Given the description of an element on the screen output the (x, y) to click on. 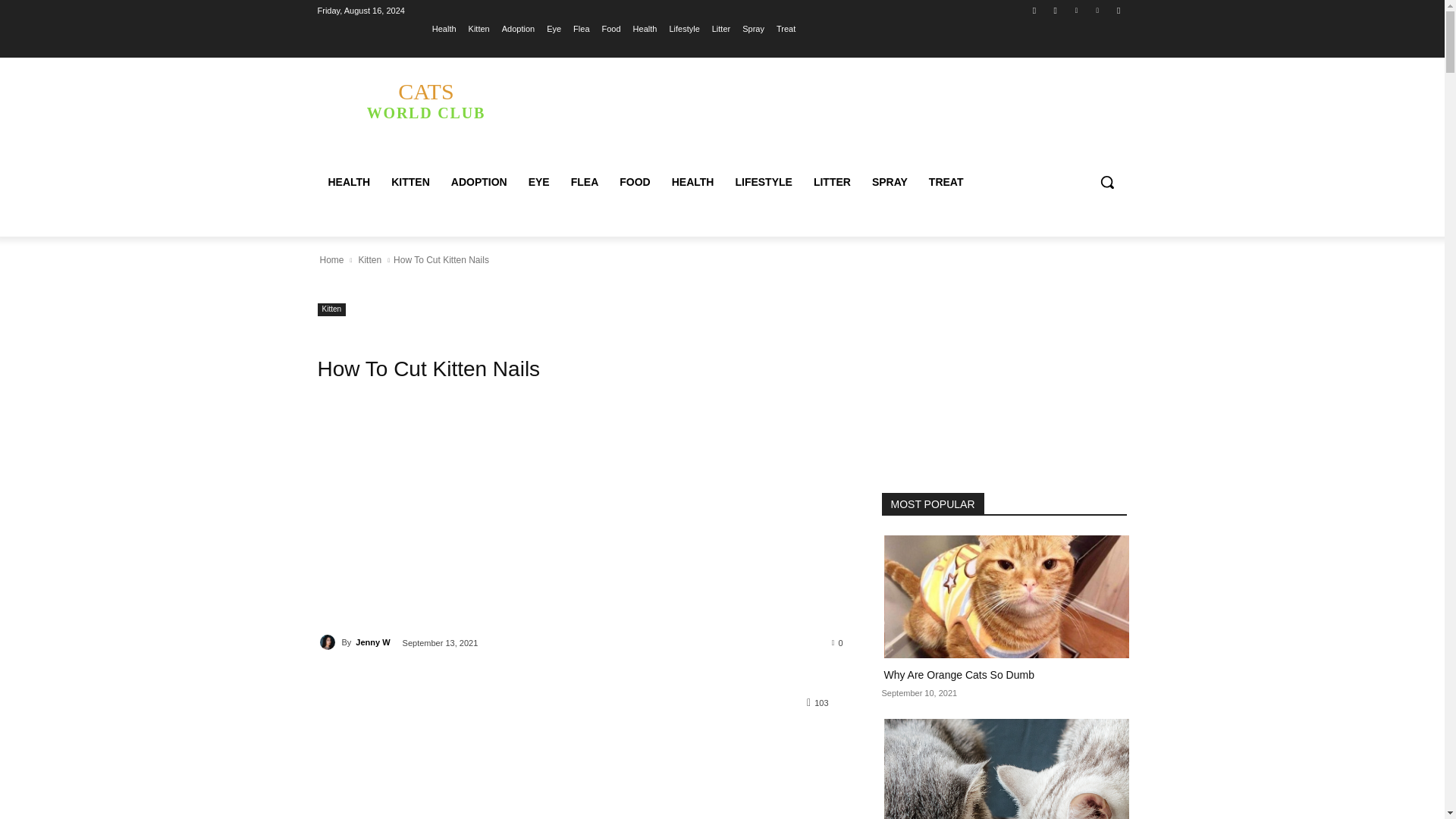
Spray (753, 28)
Youtube (1117, 9)
View all posts in Kitten (369, 259)
Health (645, 28)
Kitten (478, 28)
Jenny W (328, 642)
HEALTH (348, 181)
Instagram (1055, 9)
Twitter (1075, 9)
KITTEN (410, 181)
